Given the description of an element on the screen output the (x, y) to click on. 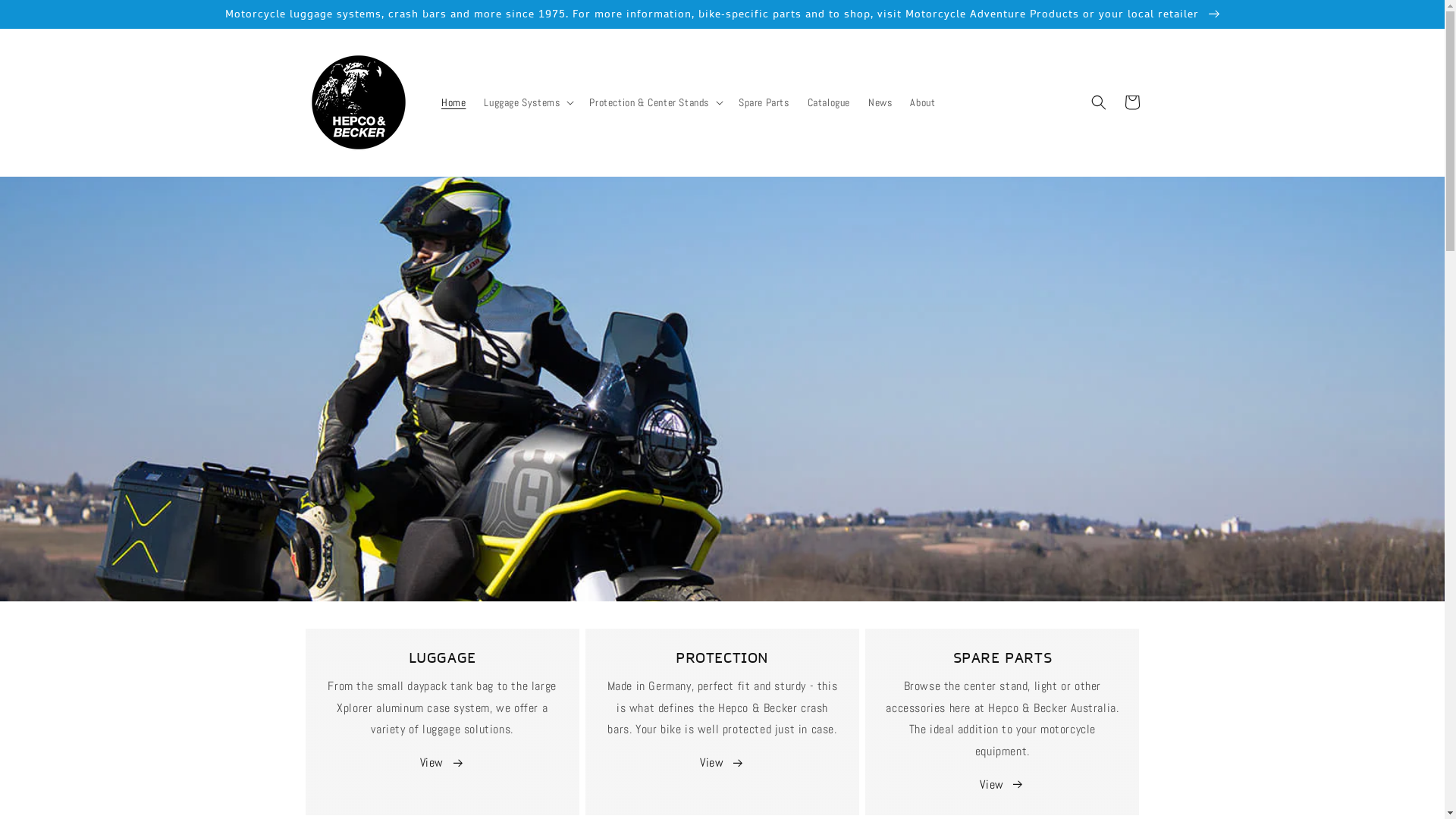
Catalogue Element type: text (828, 102)
About Element type: text (922, 102)
View  Element type: text (1001, 785)
Home Element type: text (453, 102)
Cart Element type: text (1131, 102)
View  Element type: text (721, 763)
News Element type: text (879, 102)
View  Element type: text (442, 763)
Spare Parts Element type: text (763, 102)
